Given the description of an element on the screen output the (x, y) to click on. 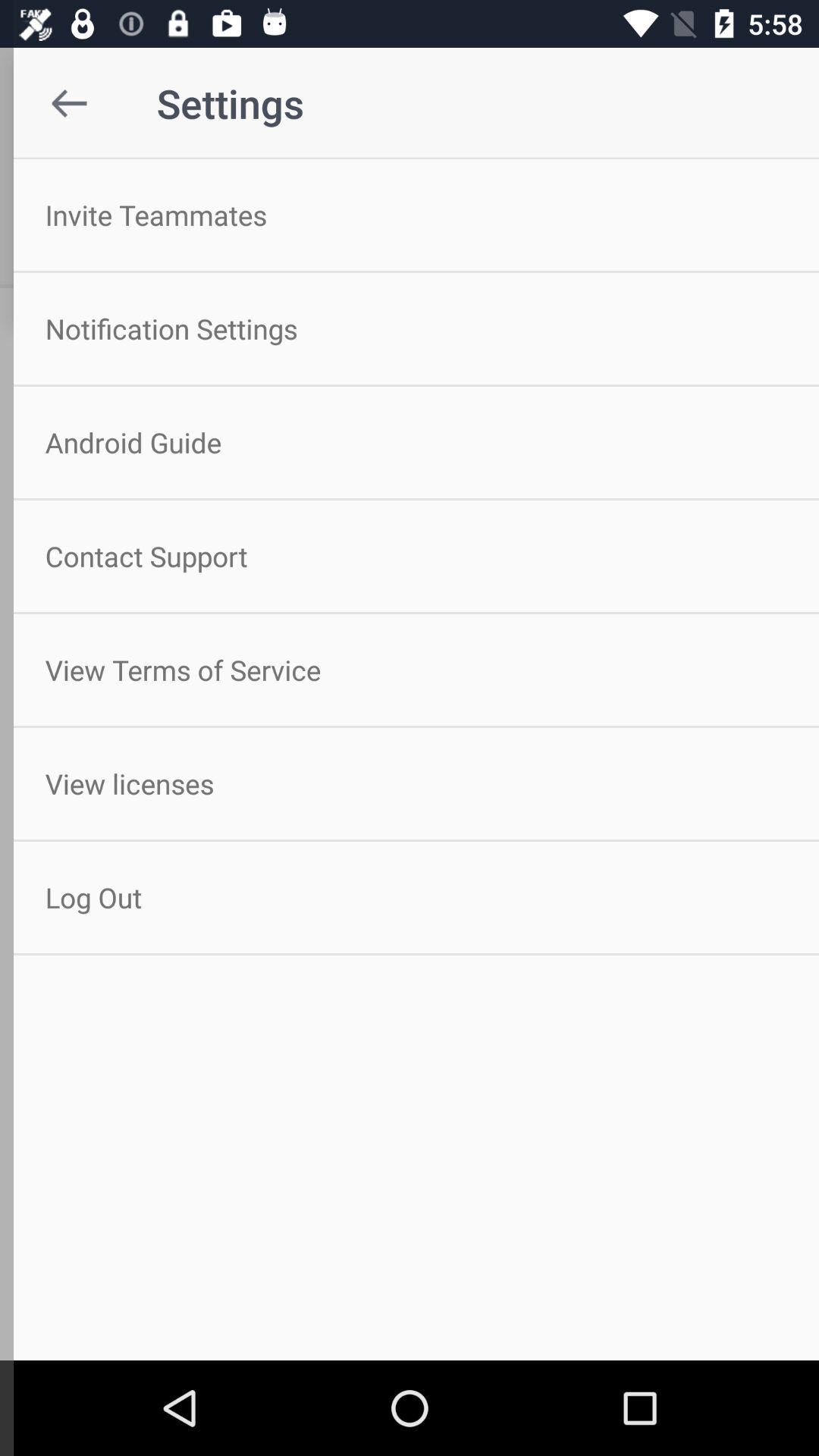
jump until notification settings item (409, 328)
